Given the description of an element on the screen output the (x, y) to click on. 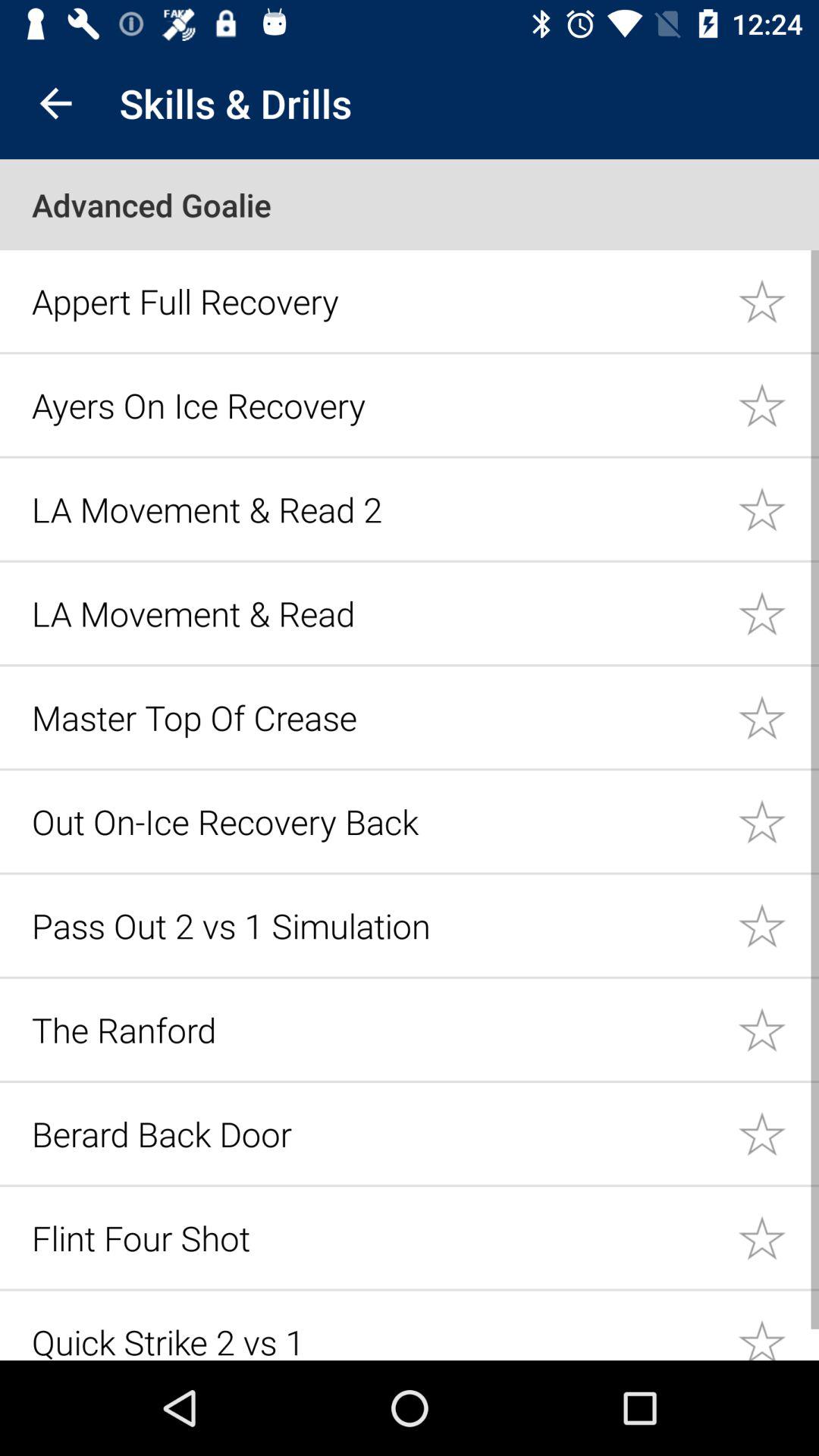
favorite quick strike 2 vs 1 (778, 1326)
